Given the description of an element on the screen output the (x, y) to click on. 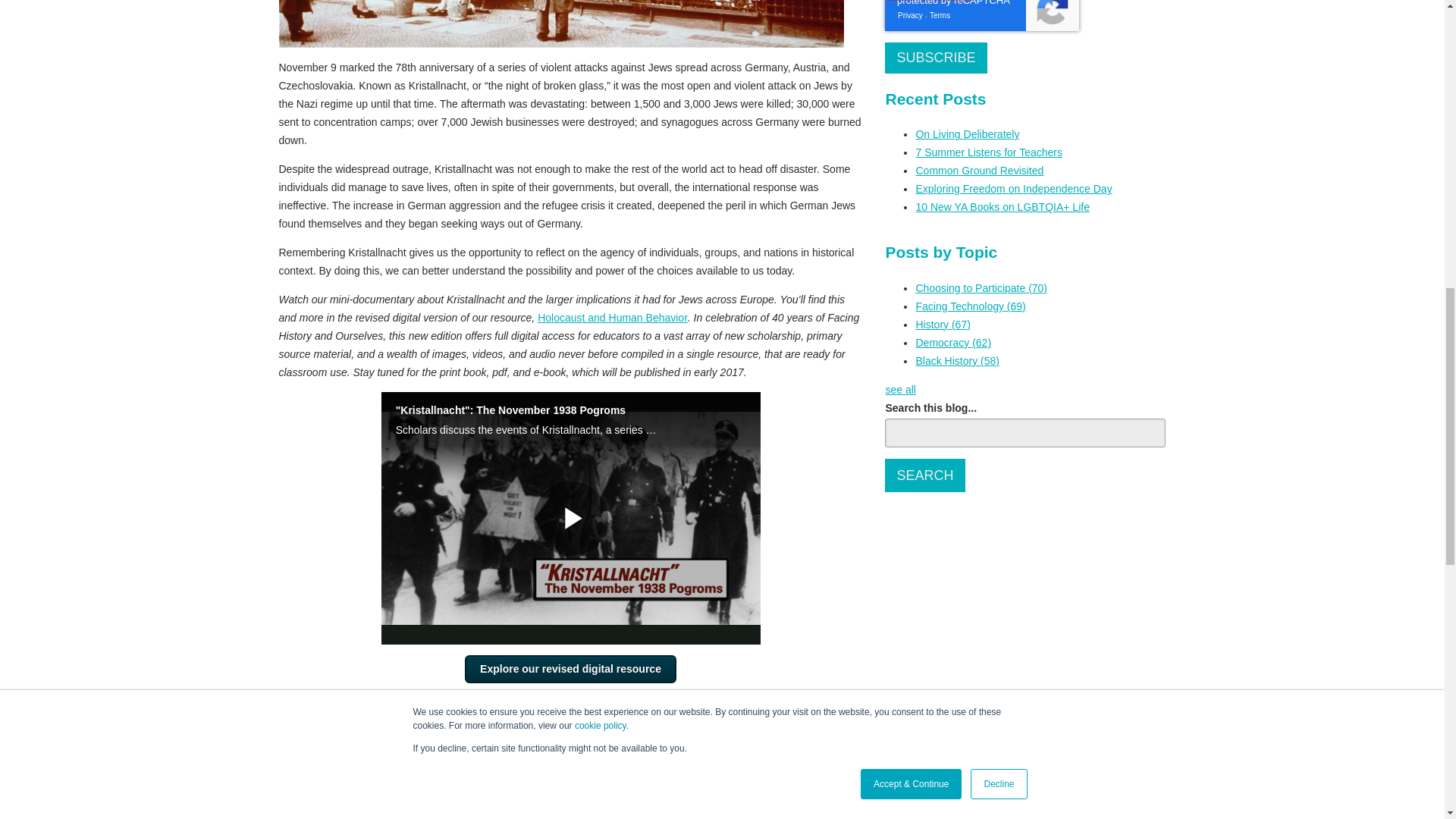
Explore our revised digital resource (570, 669)
Explore our revised digital resource (570, 669)
Holocaust and Human Behavior (501, 732)
Holocaust (390, 732)
On Living Deliberately (967, 133)
reCAPTCHA (981, 15)
Kristallnacht Holocaust and Human Behavior (561, 23)
Subscribe (936, 57)
Exploring Freedom on Independence Day (1013, 188)
7 Summer Listens for Teachers (988, 152)
Holocaust and Human Behavior (612, 317)
Common Ground Revisited (979, 170)
Subscribe (936, 57)
Facing History and Ourselves (540, 775)
Memory (338, 732)
